Given the description of an element on the screen output the (x, y) to click on. 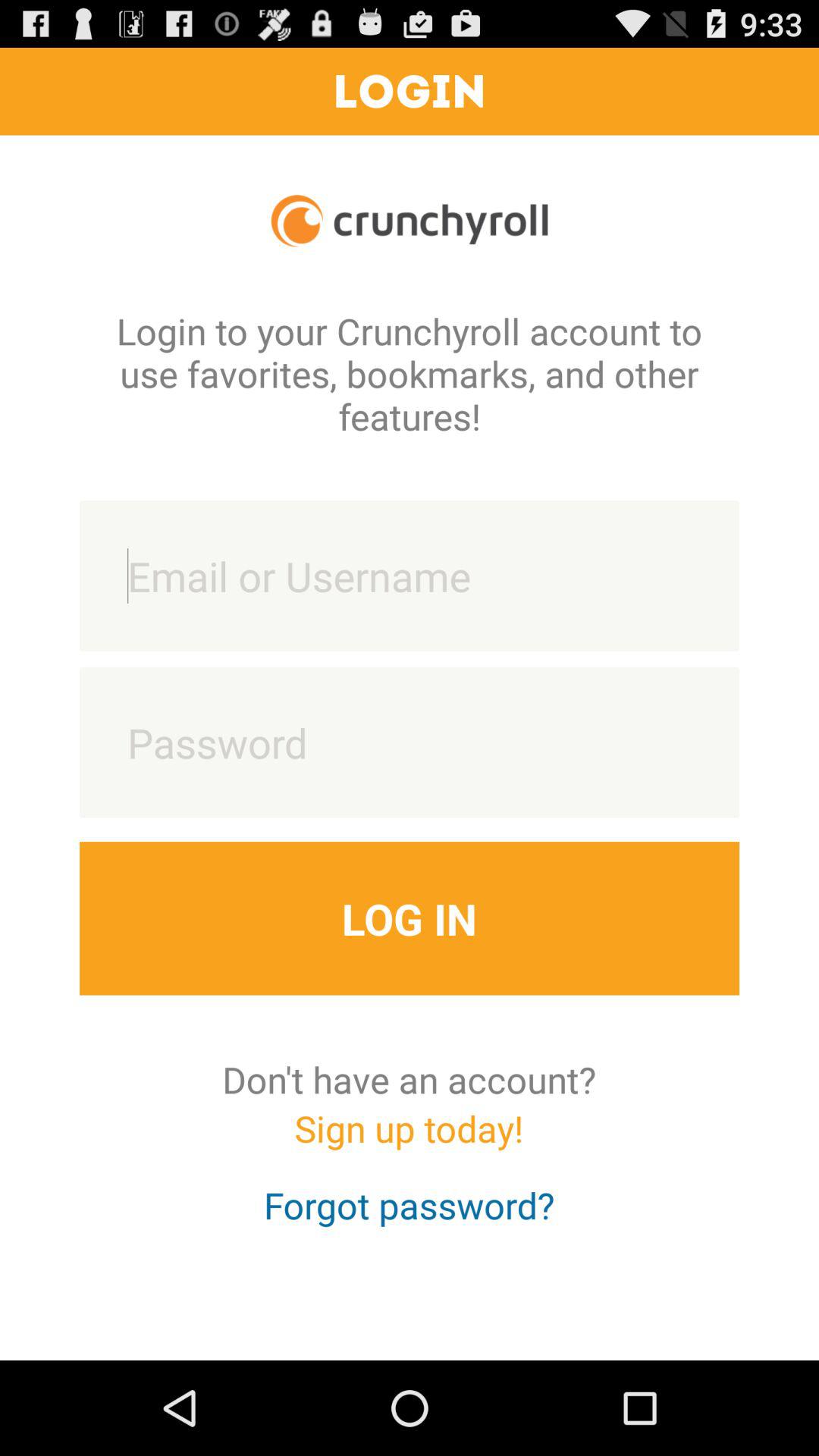
turn on sign up today! (408, 1141)
